Given the description of an element on the screen output the (x, y) to click on. 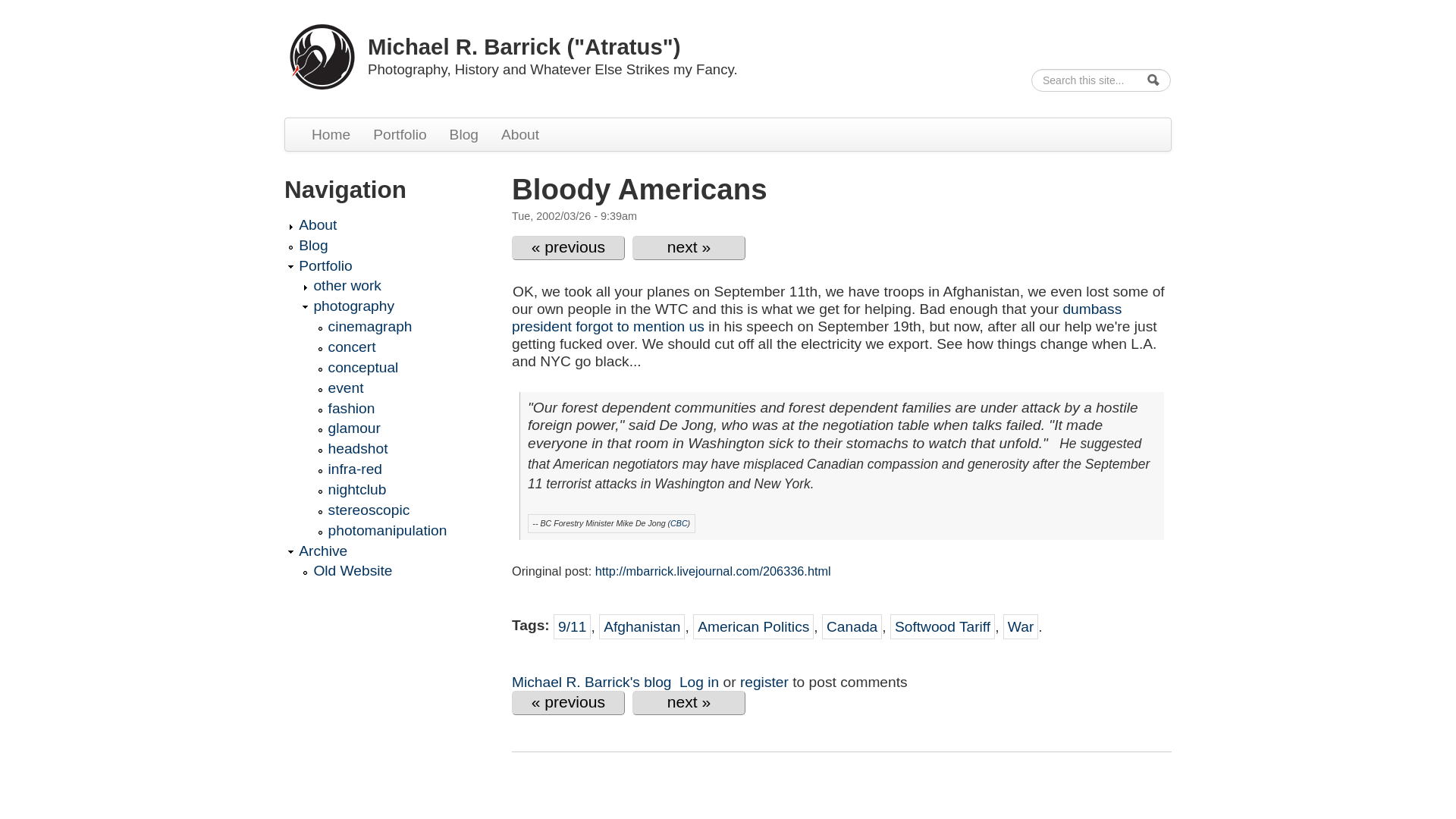
stereoscopic (398, 509)
Home (523, 46)
nightclub (398, 488)
CBC (678, 522)
stereoscopic (398, 509)
photography (393, 305)
photomanipulation (398, 529)
infra-red (398, 468)
Home (321, 55)
Old Website (393, 570)
Home (330, 133)
event (398, 387)
concert (398, 346)
Portfolio (389, 265)
glamour (398, 427)
